Given the description of an element on the screen output the (x, y) to click on. 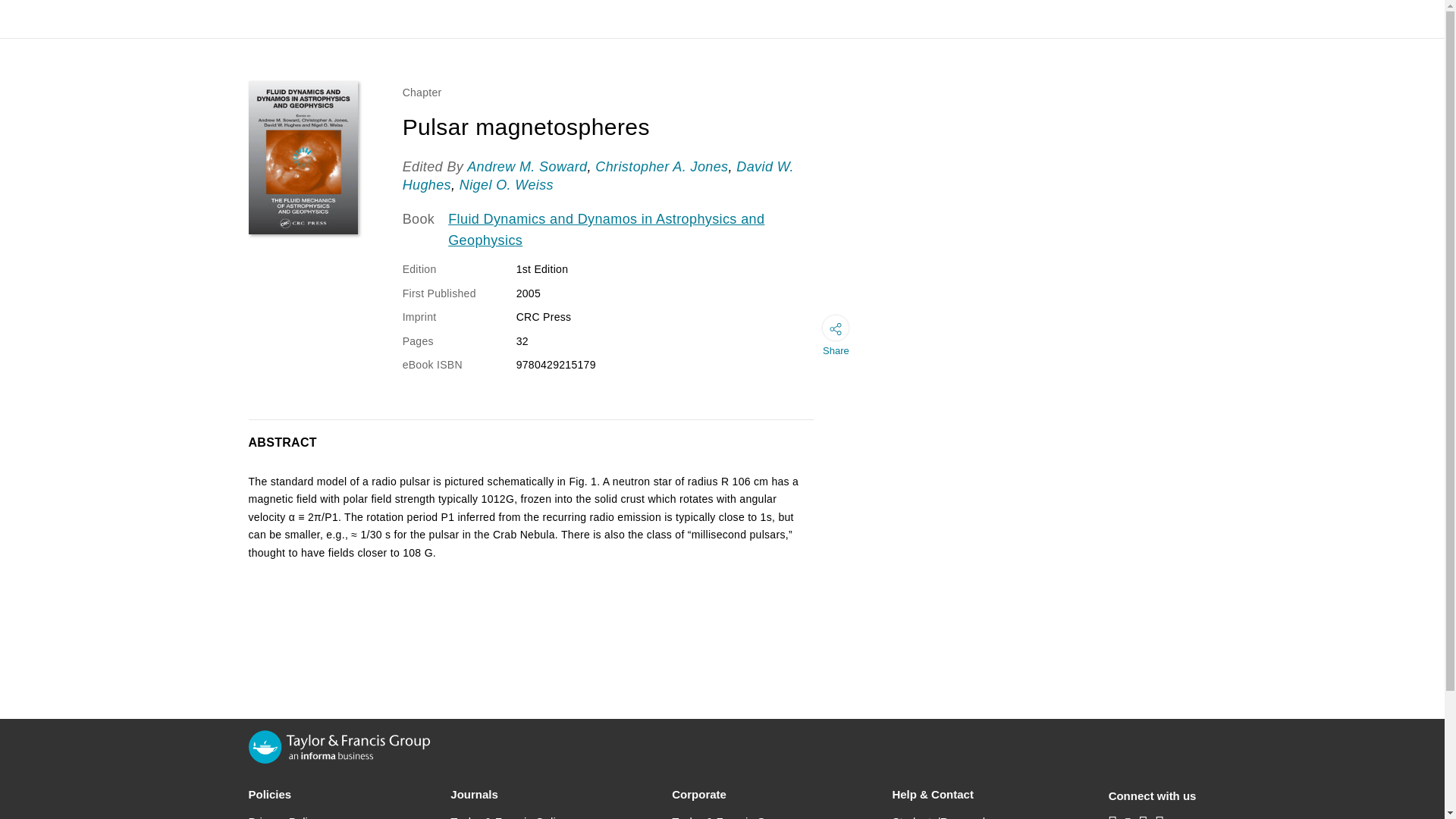
David W. Hughes (598, 175)
Andrew M. Soward (526, 166)
Fluid Dynamics and Dynamos in Astrophysics and Geophysics (633, 229)
Nigel O. Weiss (506, 184)
Privacy Policy (283, 816)
Christopher A. Jones (661, 166)
